Given the description of an element on the screen output the (x, y) to click on. 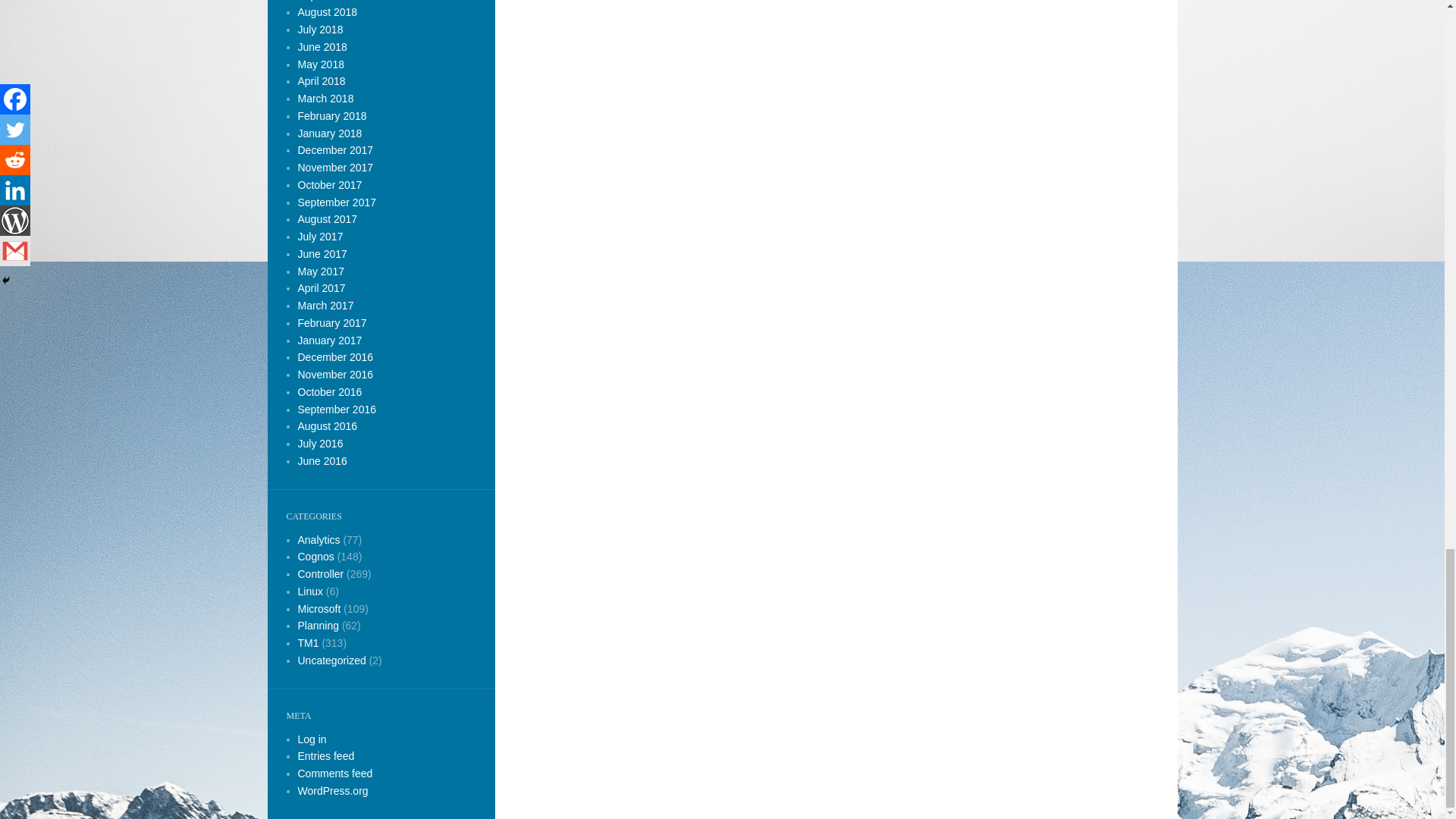
Information about Cognos TM1 (307, 643)
Information about Cognos Planning (318, 625)
Information about Cognos BI (315, 556)
Information about Cognos Controller (320, 573)
IBM Cognos Business Intelligence  (318, 539)
